Given the description of an element on the screen output the (x, y) to click on. 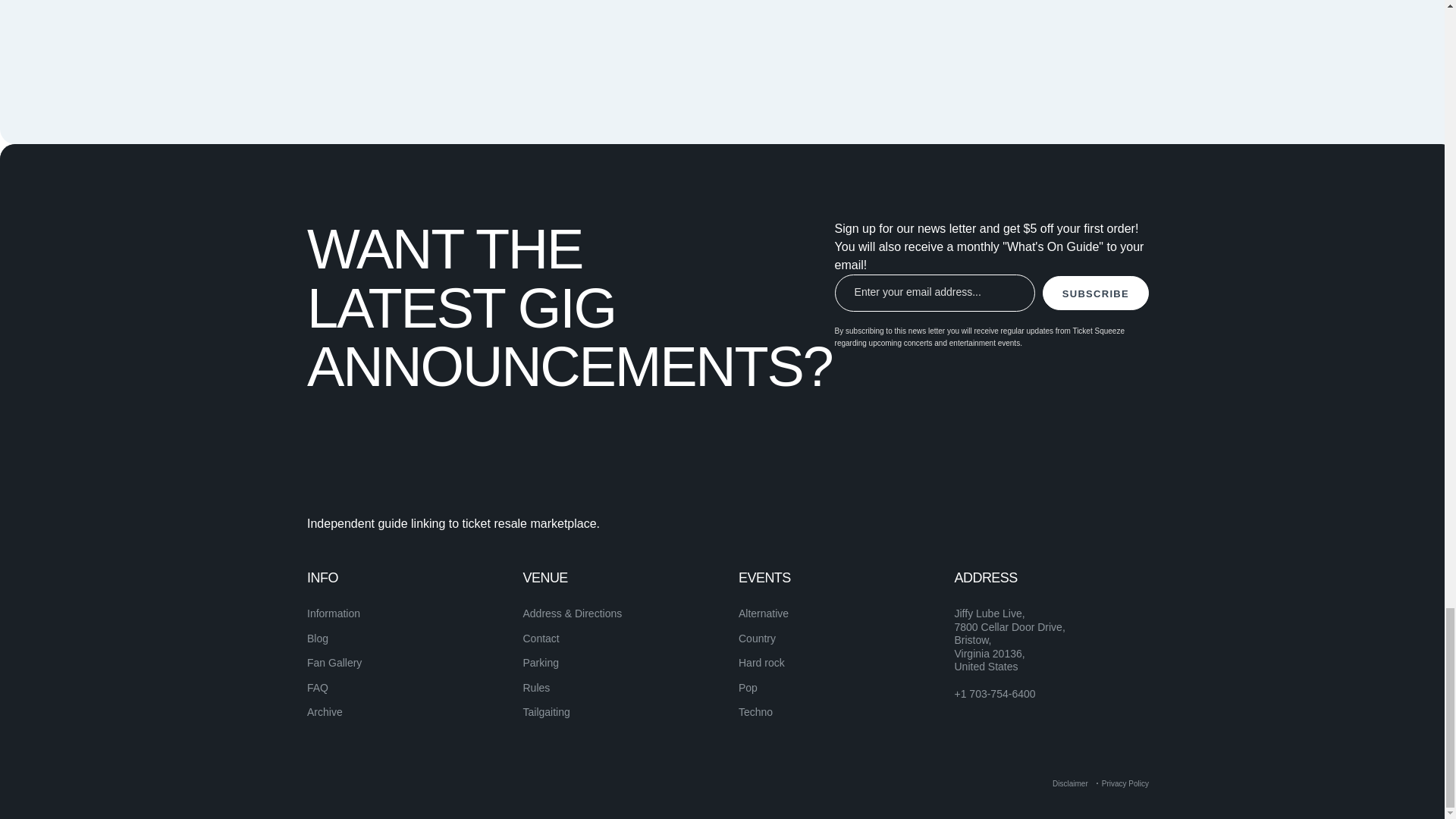
Archive (324, 711)
FAQ (318, 687)
Tailgaiting (546, 711)
Techno (755, 711)
Rules (536, 687)
Fan Gallery (334, 662)
Blog (318, 638)
SUBSCRIBE (1095, 293)
Country (757, 638)
Disclaimer (1069, 783)
